Given the description of an element on the screen output the (x, y) to click on. 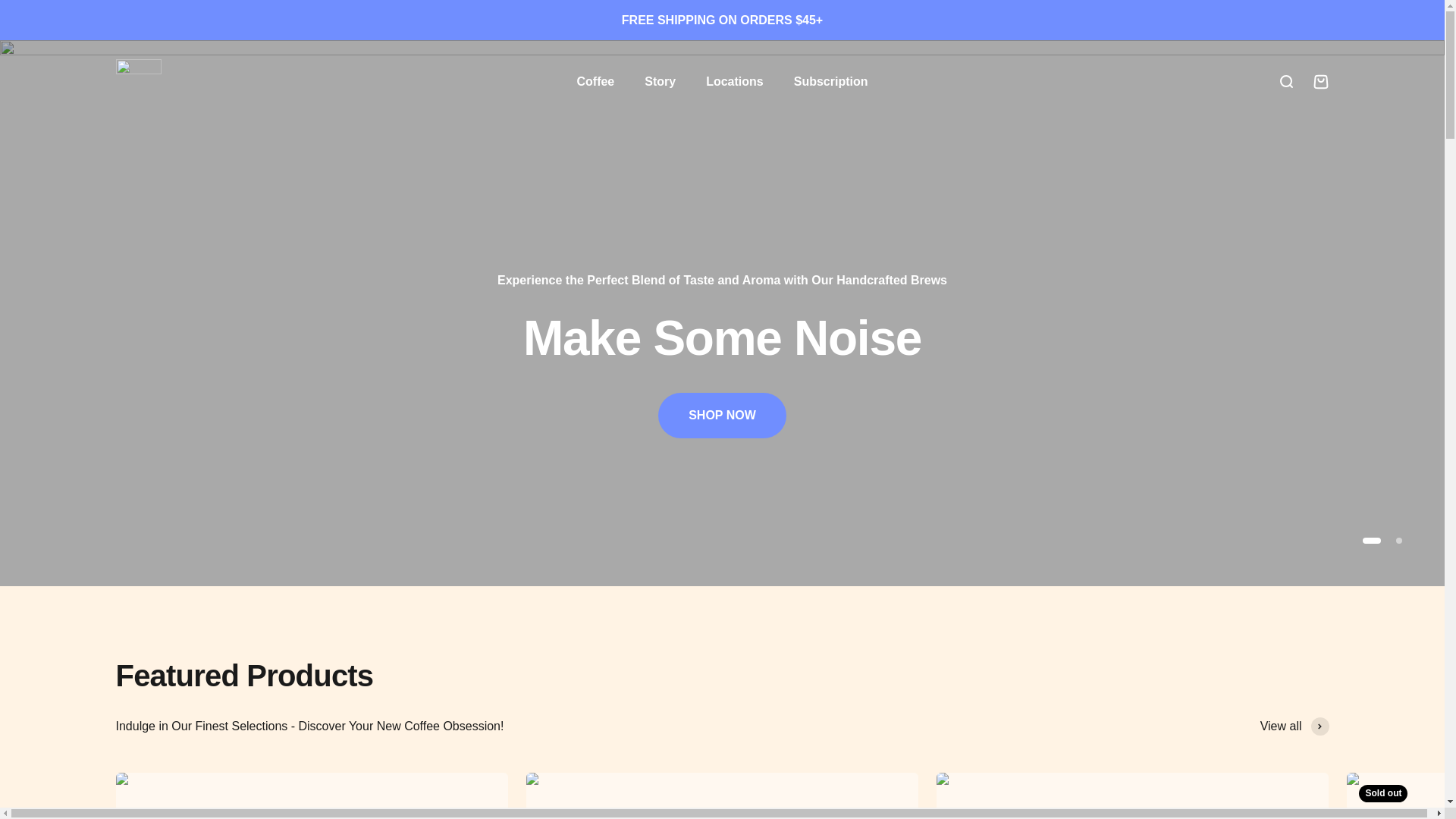
Coffee (595, 81)
Subscription (830, 81)
SHOP NOW (722, 415)
Go to item 2 (1399, 540)
Locations (734, 81)
Story (660, 81)
View all (1294, 726)
White Noise Coffee (137, 81)
Open cart (1319, 81)
Open search (1285, 81)
Go to item 1 (1371, 540)
